Given the description of an element on the screen output the (x, y) to click on. 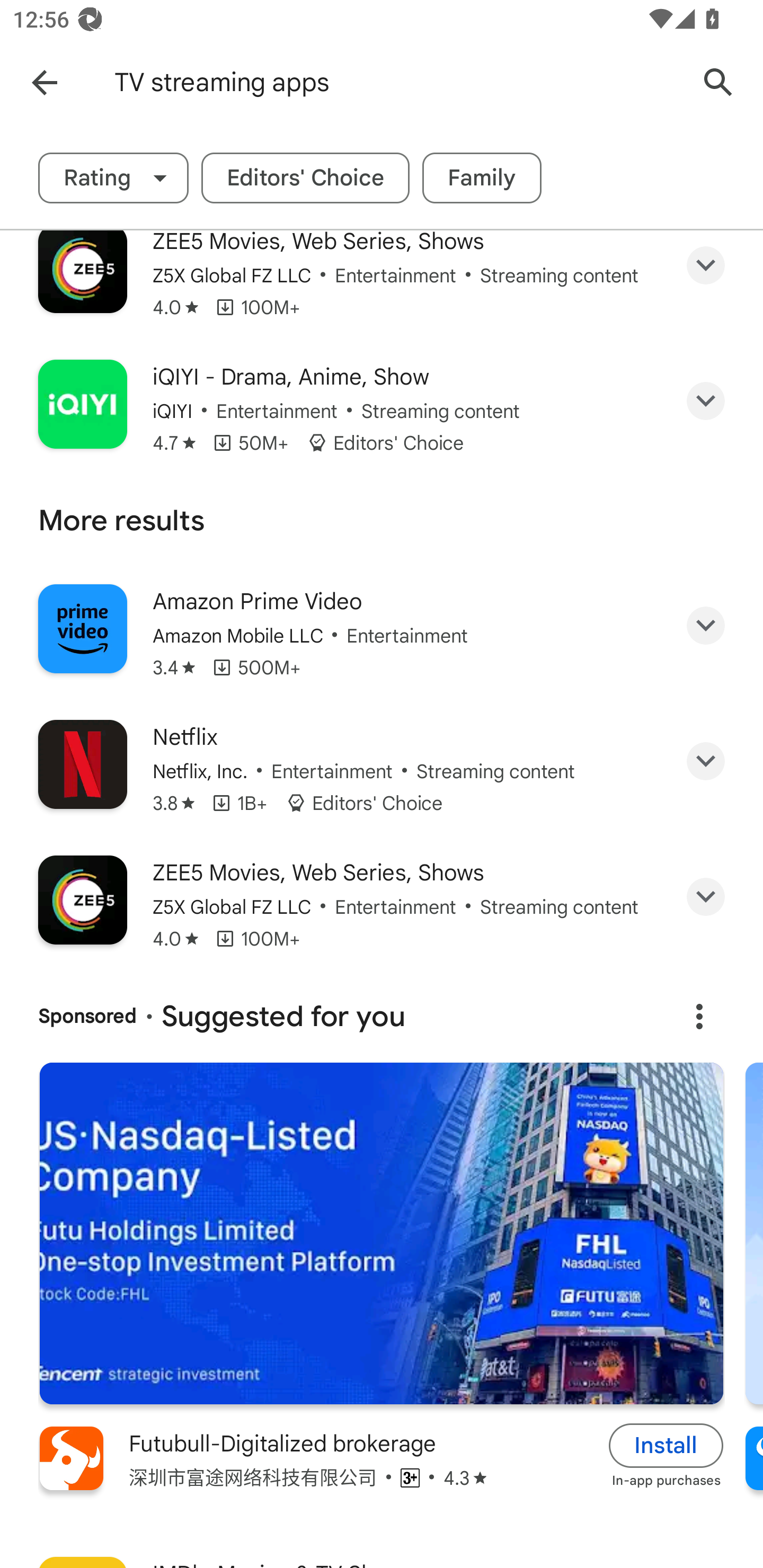
TV streaming apps (397, 82)
Navigate up (44, 81)
Search Google Play (718, 81)
Rating - double tap to change the filter (113, 177)
Editors' Choice - double tap to toggle the filter (305, 177)
Family - double tap to toggle the filter (481, 177)
Expand content for ZEE5 Movies, Web Series, Shows (705, 267)
Expand content for iQIYI - Drama, Anime, Show (705, 400)
Expand content for Amazon Prime Video (705, 625)
Expand content for Netflix (705, 760)
Expand content for ZEE5 Movies, Web Series, Shows (705, 896)
About this ad (699, 1016)
Install (665, 1445)
